Given the description of an element on the screen output the (x, y) to click on. 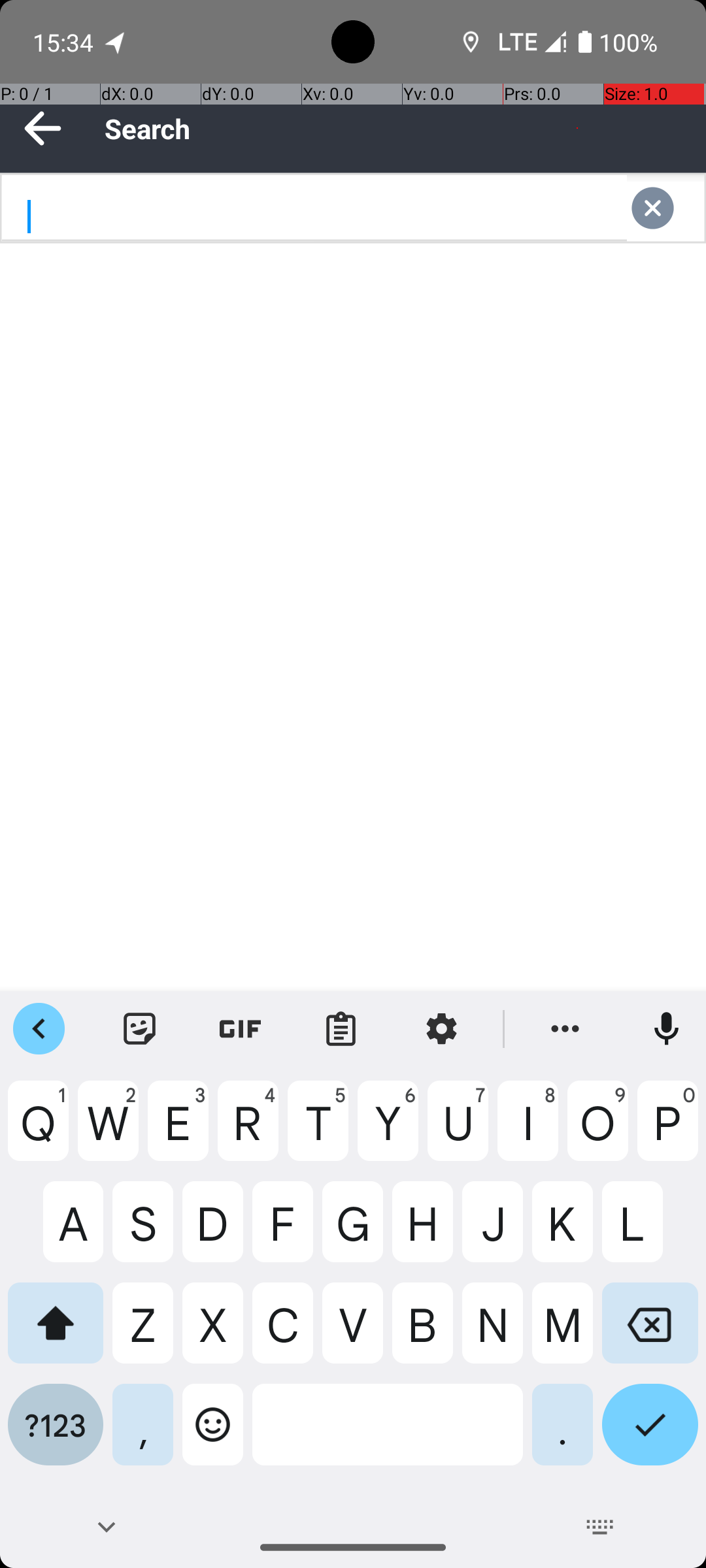
 Element type: android.widget.TextView (665, 207)
